Given the description of an element on the screen output the (x, y) to click on. 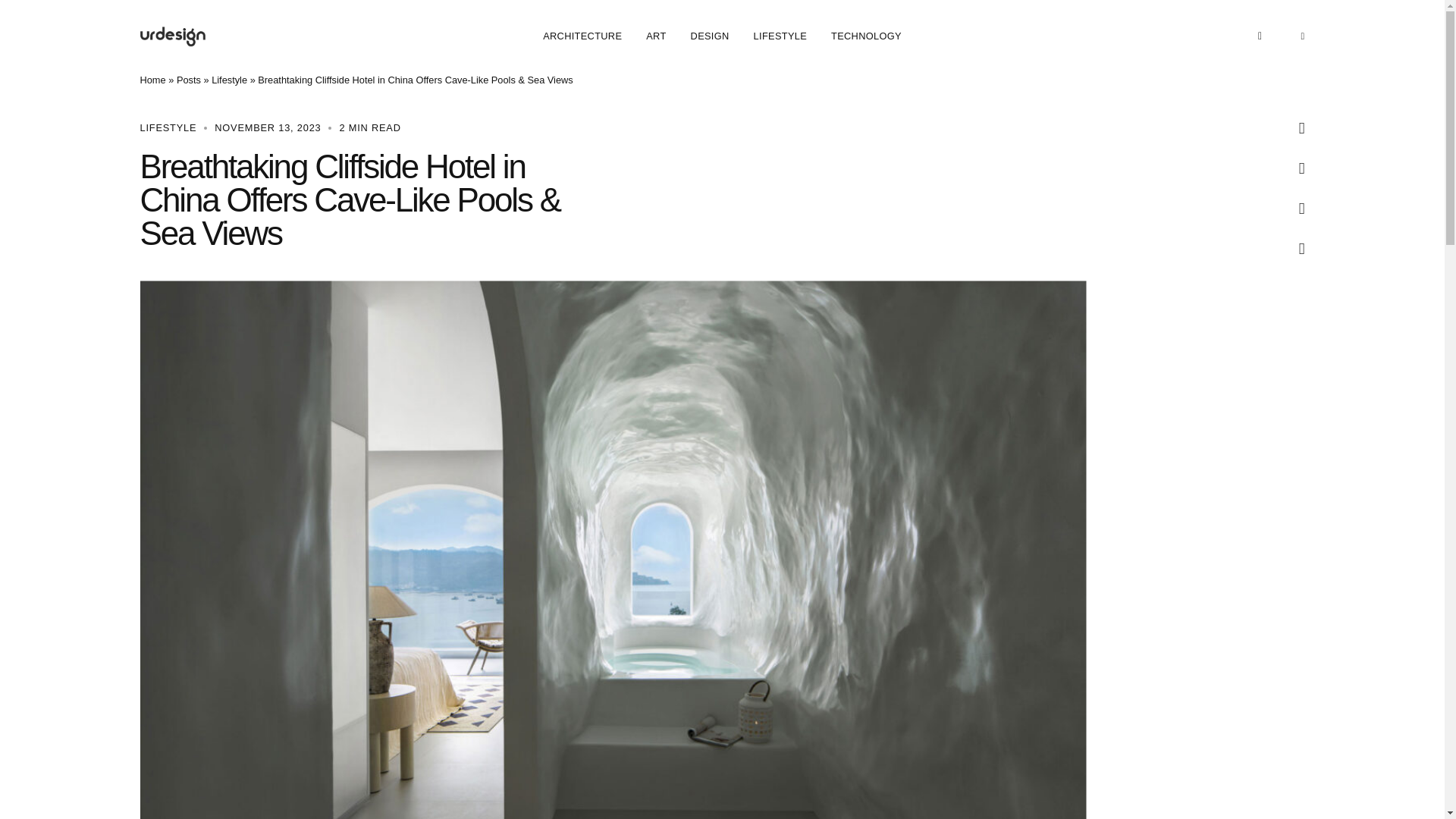
ART (655, 36)
ARCHITECTURE (582, 36)
TECHNOLOGY (866, 36)
DESIGN (709, 36)
LIFESTYLE (780, 36)
